Given the description of an element on the screen output the (x, y) to click on. 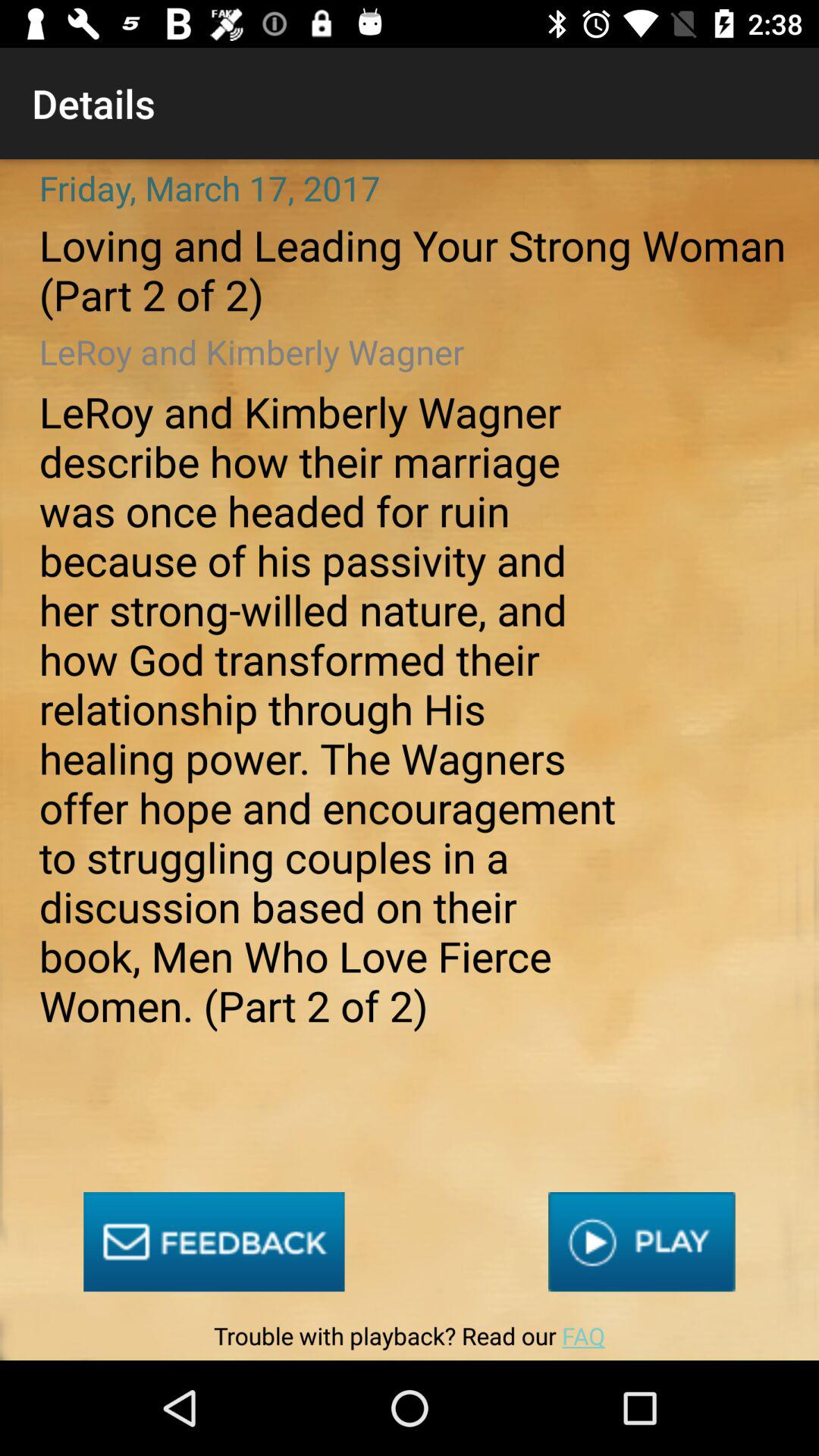
jump until the trouble with playback icon (409, 1339)
